Given the description of an element on the screen output the (x, y) to click on. 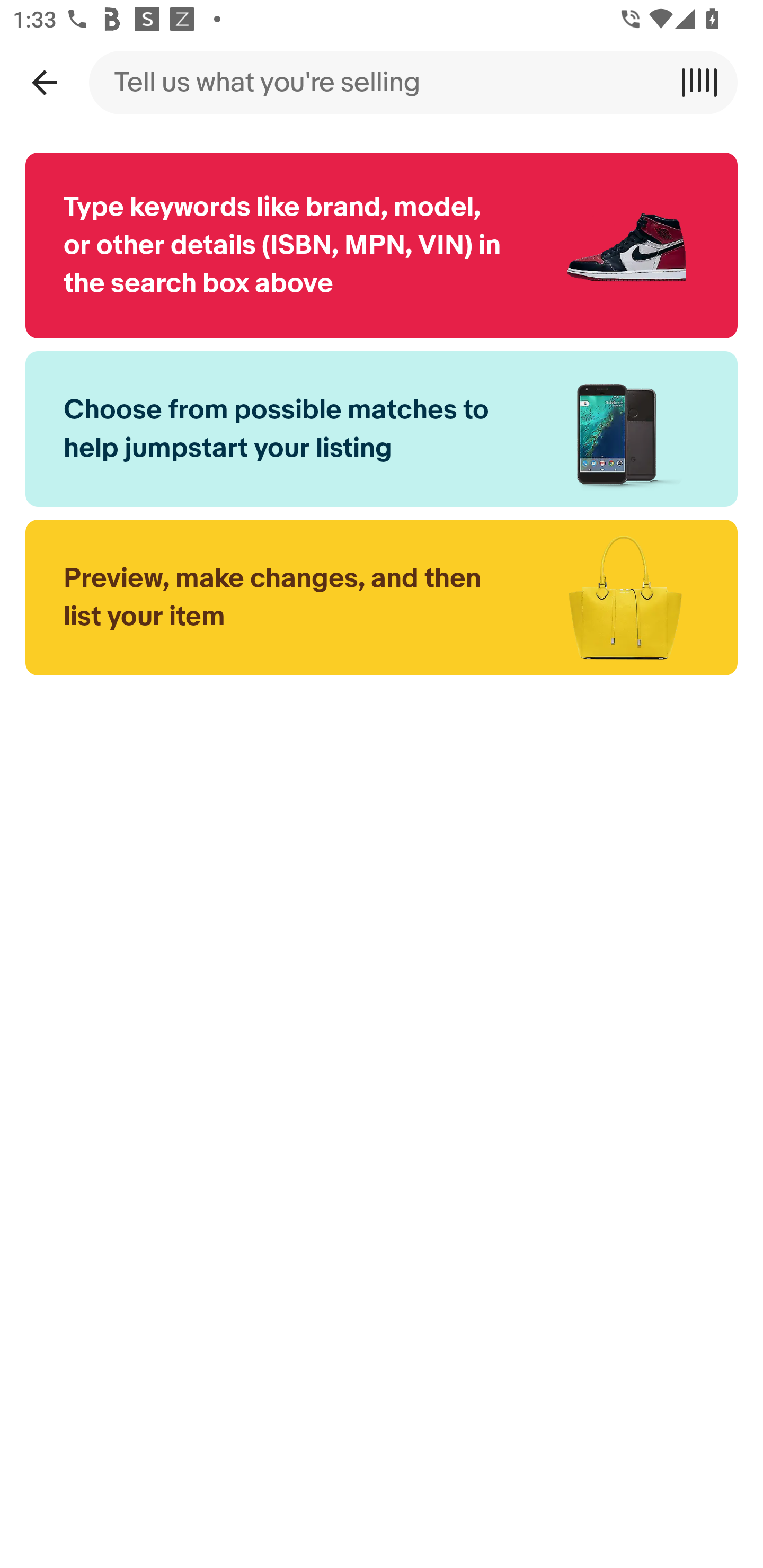
Navigate up (44, 82)
Scan a barcode (705, 82)
Tell us what you're selling (381, 82)
